Given the description of an element on the screen output the (x, y) to click on. 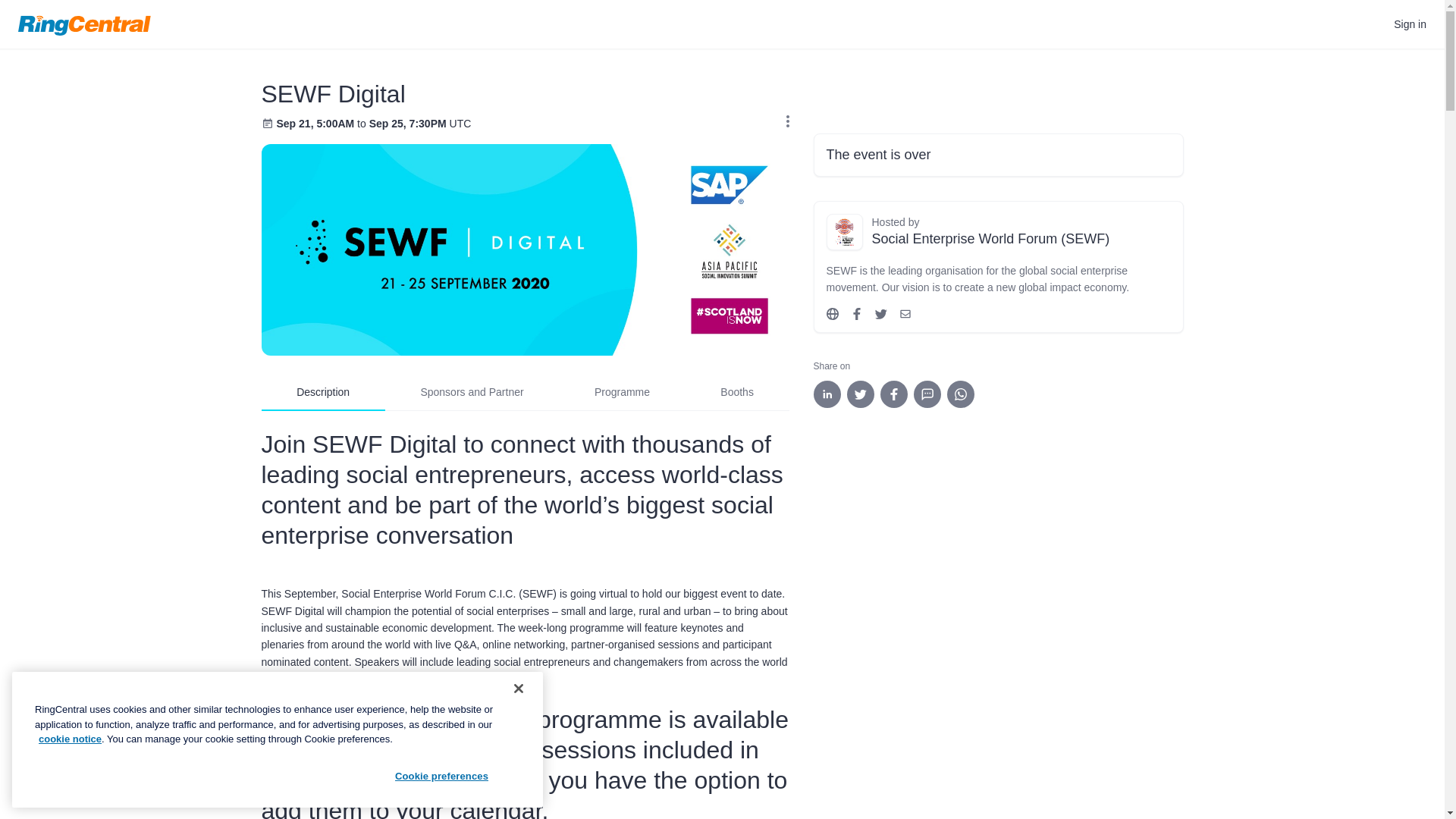
Sponsors and Partner (472, 392)
our website (357, 749)
Programme (621, 392)
Description (322, 392)
Sign in (1409, 24)
Booths (737, 392)
